Given the description of an element on the screen output the (x, y) to click on. 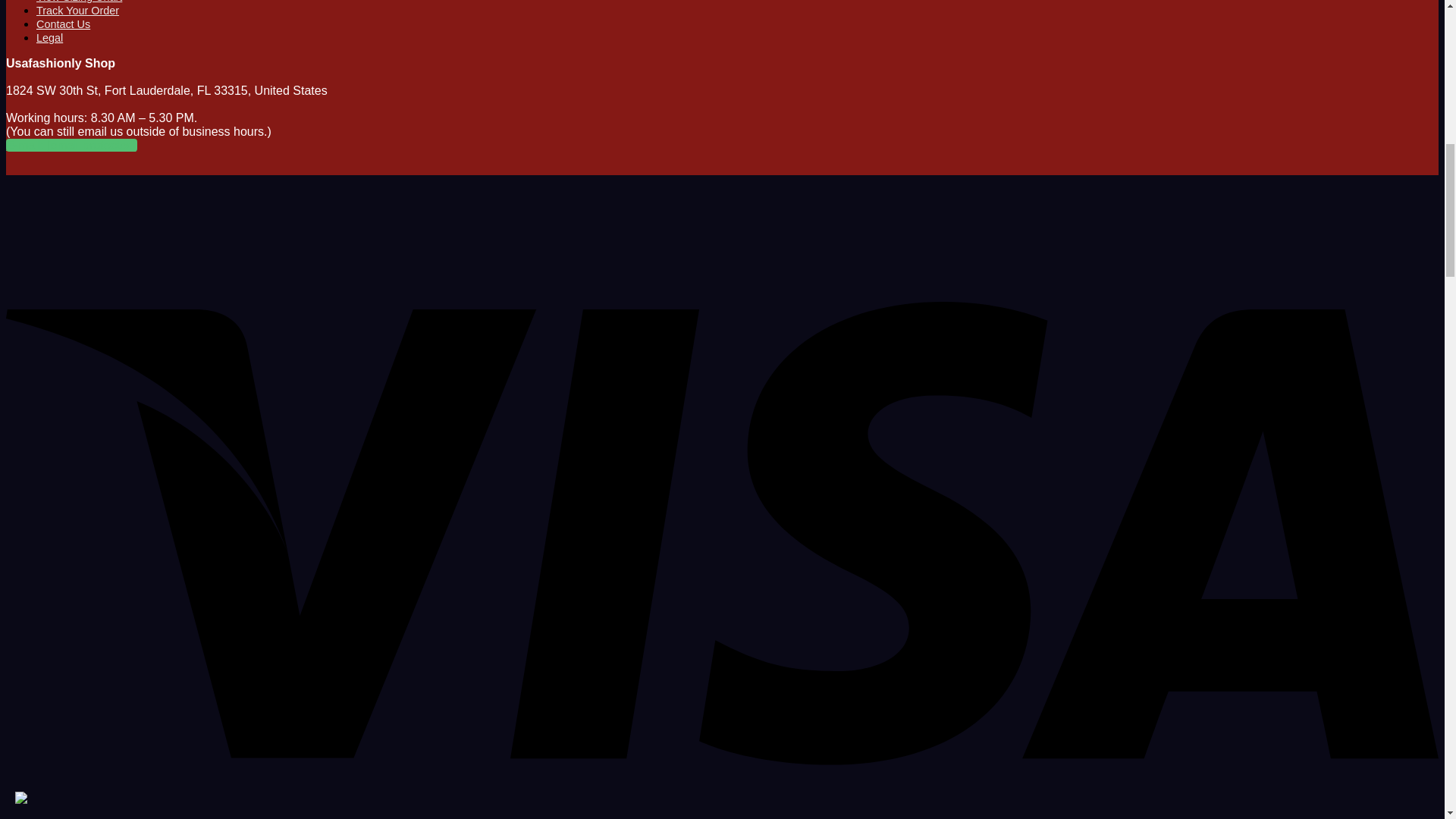
Legal (49, 37)
Contact Us (63, 24)
Track Your Order (77, 10)
View Sizing Chart (79, 1)
